Given the description of an element on the screen output the (x, y) to click on. 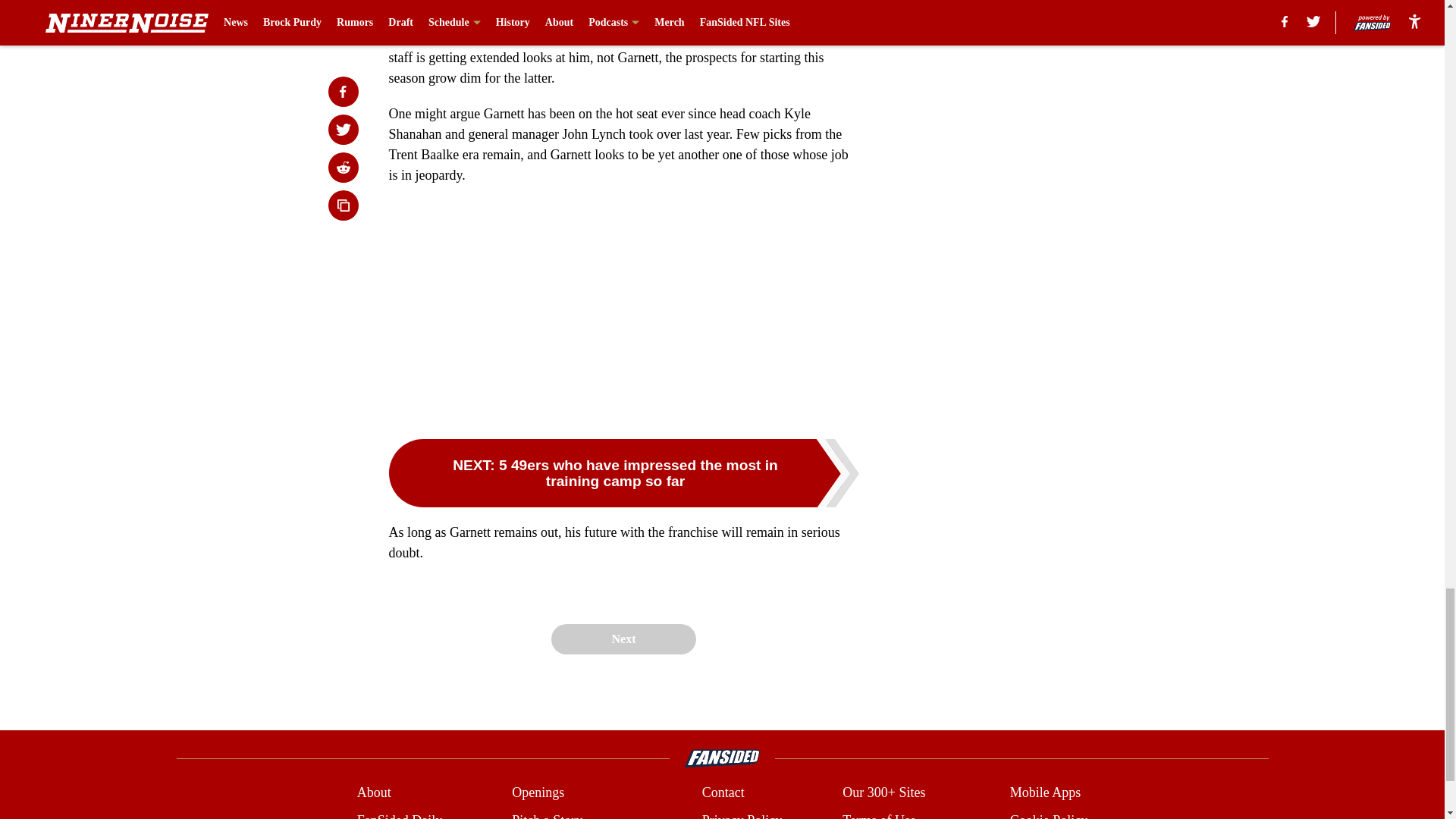
About (373, 792)
Jonathan Cooper (617, 12)
Next (622, 639)
Openings (538, 792)
